Given the description of an element on the screen output the (x, y) to click on. 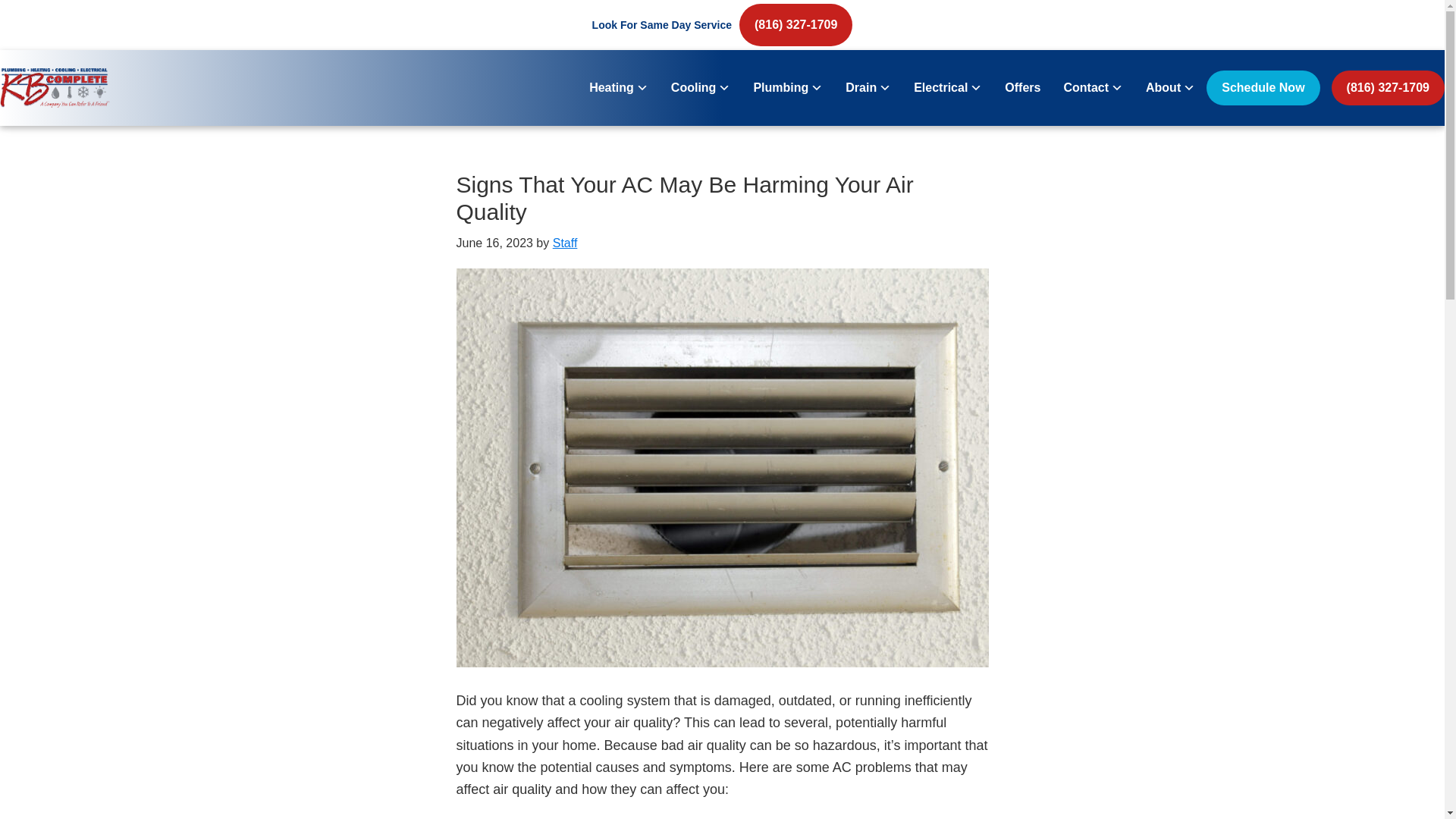
Plumbing (787, 87)
Heating (618, 87)
Cooling (700, 87)
